Given the description of an element on the screen output the (x, y) to click on. 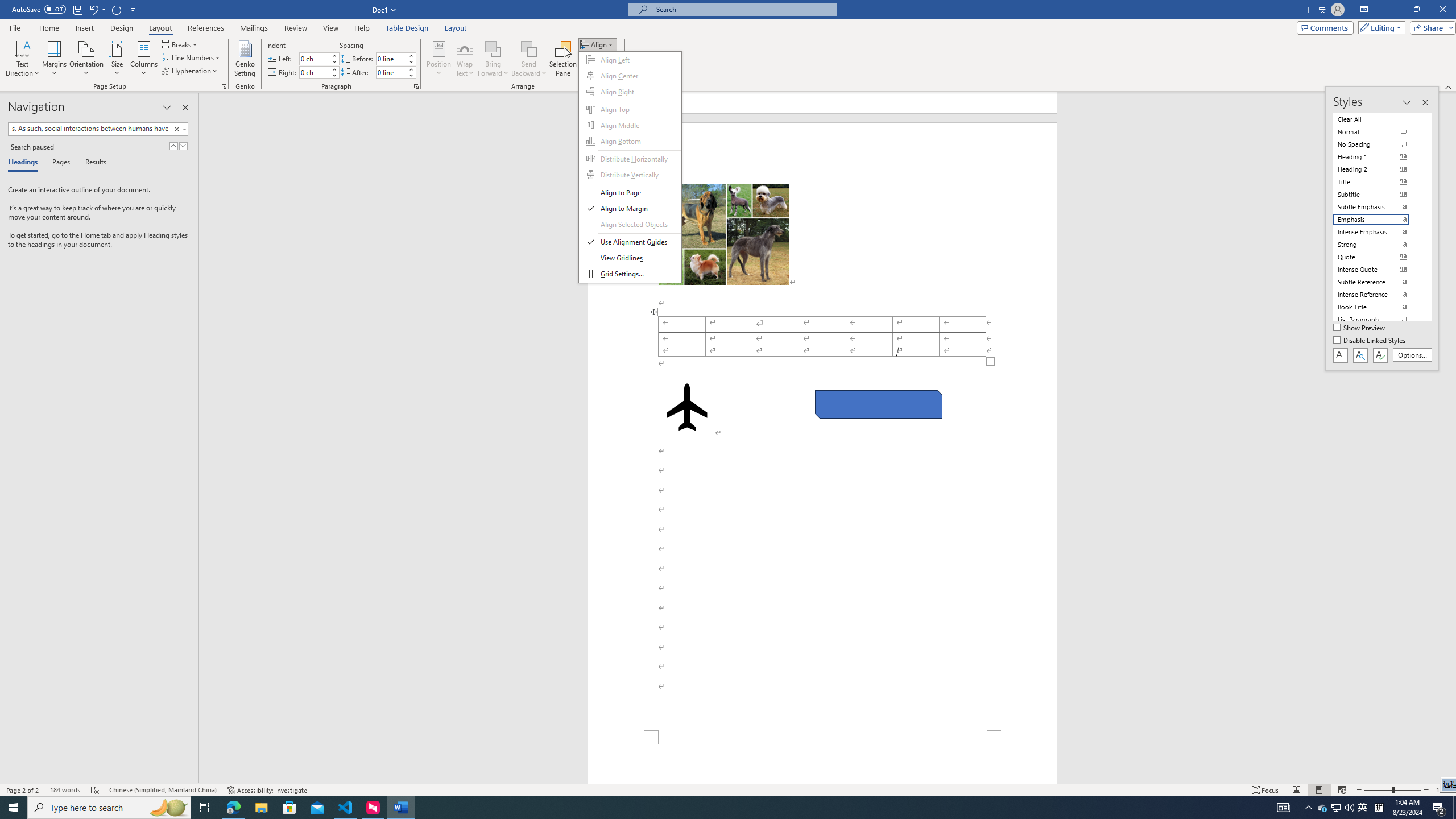
Clear (178, 128)
Zoom 104% (1443, 790)
Size (116, 58)
Disable Linked Styles (1370, 340)
Selection Pane... (563, 58)
Bring Forward (492, 48)
Orientation (86, 58)
Wrap Text (464, 58)
Spacing Before (391, 58)
